Given the description of an element on the screen output the (x, y) to click on. 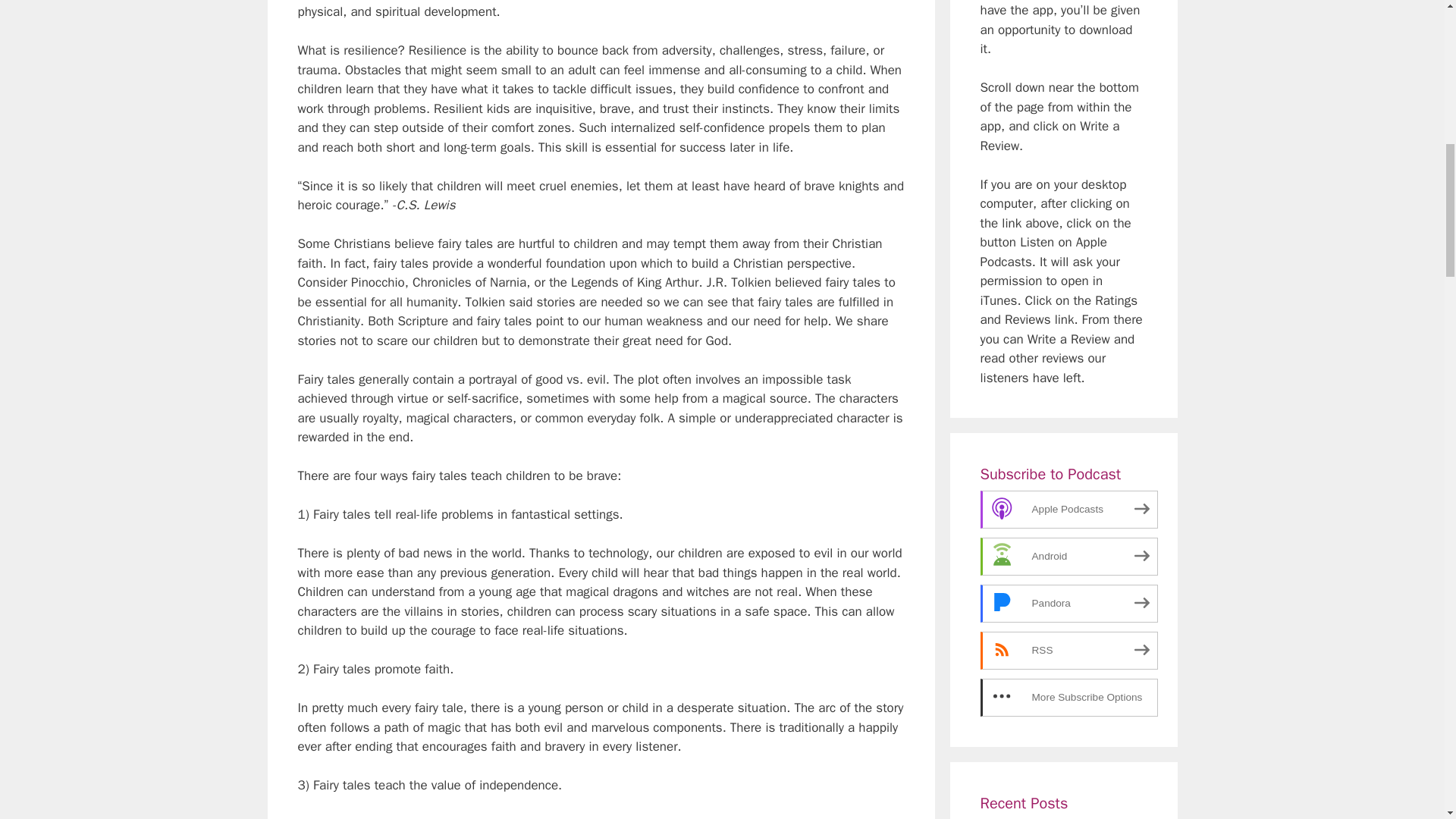
Scroll back to top (1406, 720)
Subscribe via RSS (1068, 650)
More Subscribe Options (1068, 697)
Subscribe on Apple Podcasts (1068, 509)
Subscribe on Pandora (1068, 603)
Subscribe on Android (1068, 556)
